Given the description of an element on the screen output the (x, y) to click on. 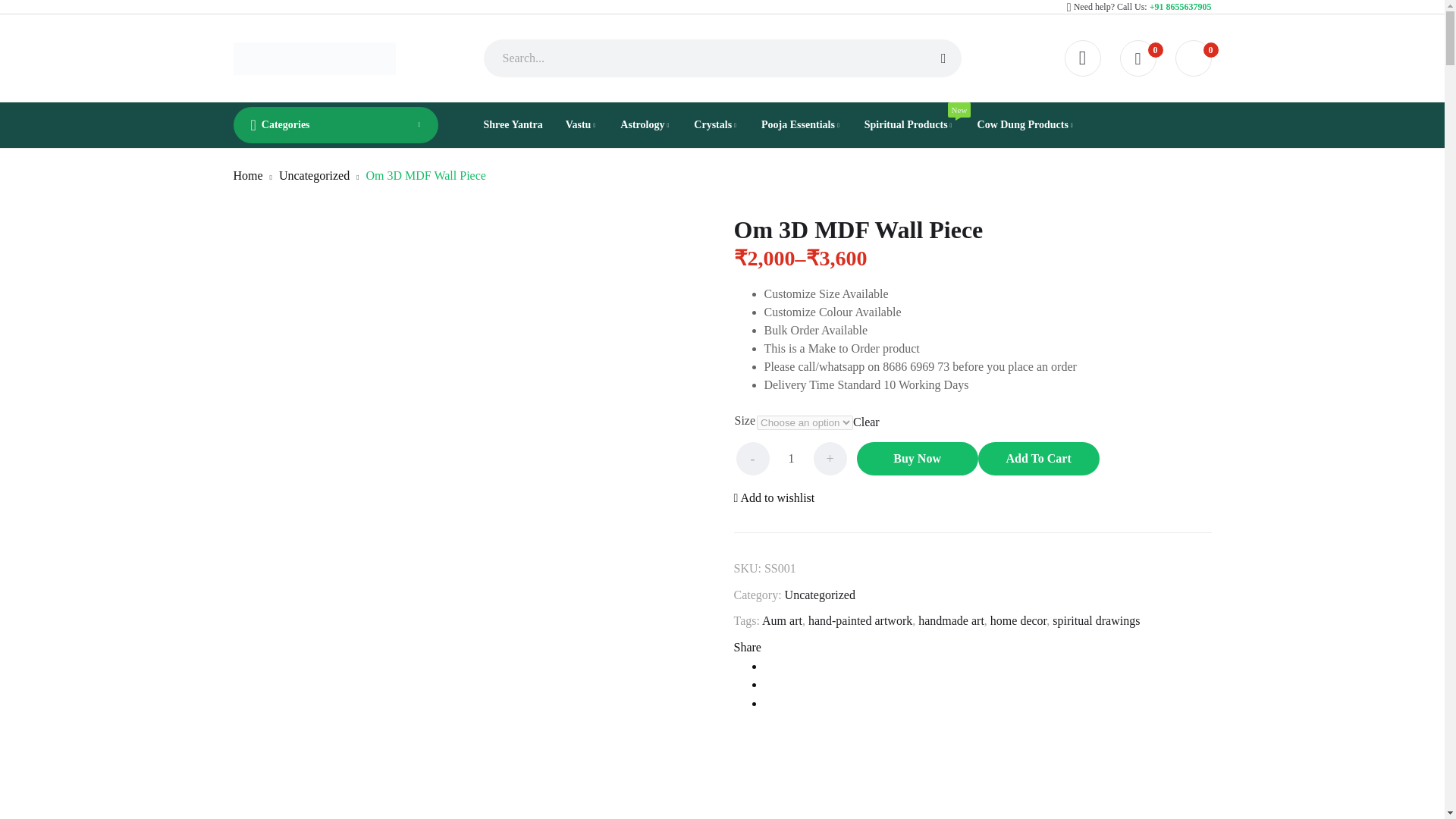
0 (1137, 58)
Shree Yantra (513, 125)
1 (790, 458)
0 (1192, 58)
Astrology (645, 125)
- (751, 458)
